Given the description of an element on the screen output the (x, y) to click on. 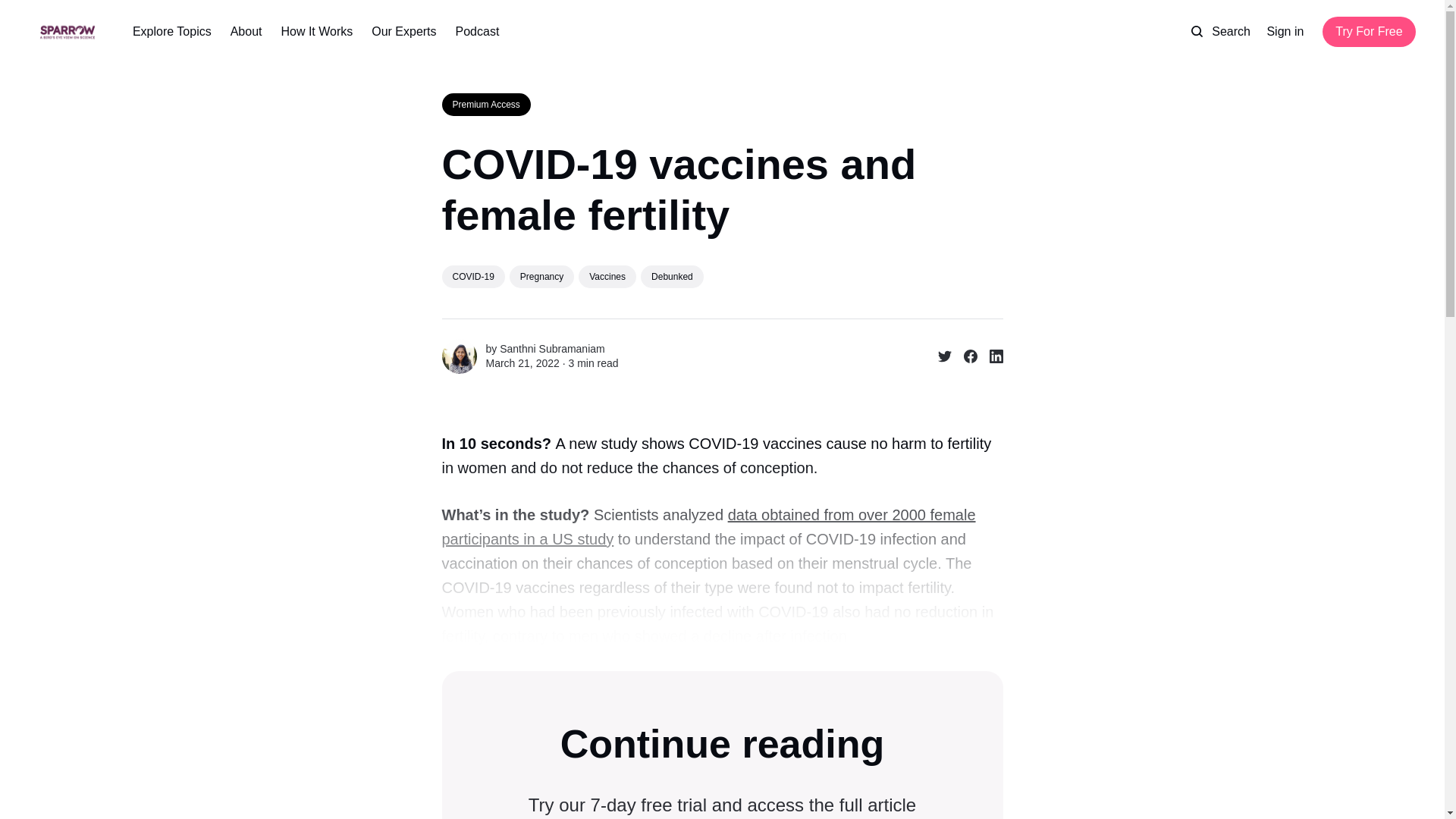
Debunked (671, 276)
Our Experts (403, 31)
How It Works (316, 31)
Vaccines (607, 276)
Try For Free (1368, 31)
Santhni Subramaniam (552, 348)
Sign in (1284, 31)
Podcast (477, 31)
COVID-19 (472, 276)
About (246, 31)
Pregnancy (541, 276)
